Given the description of an element on the screen output the (x, y) to click on. 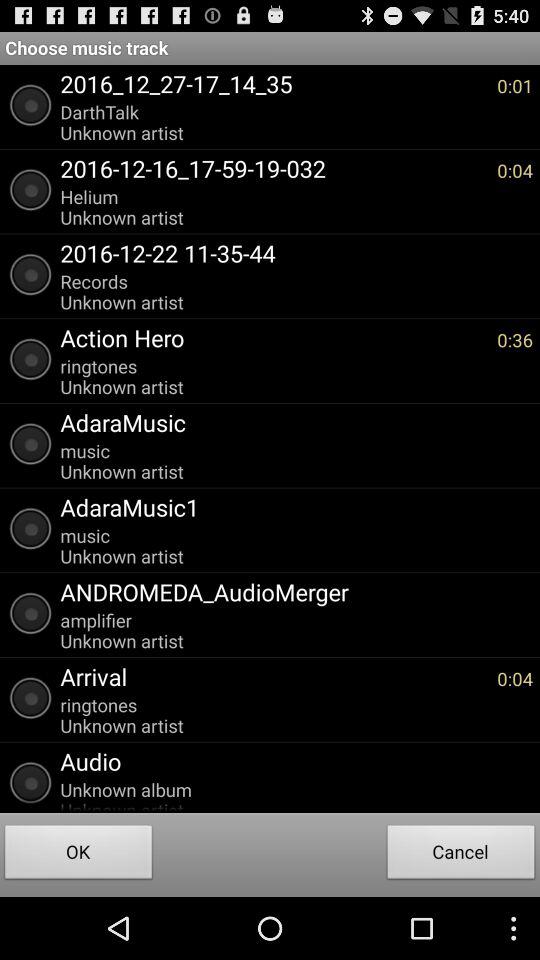
flip until the andromeda_audiomerger icon (291, 591)
